Given the description of an element on the screen output the (x, y) to click on. 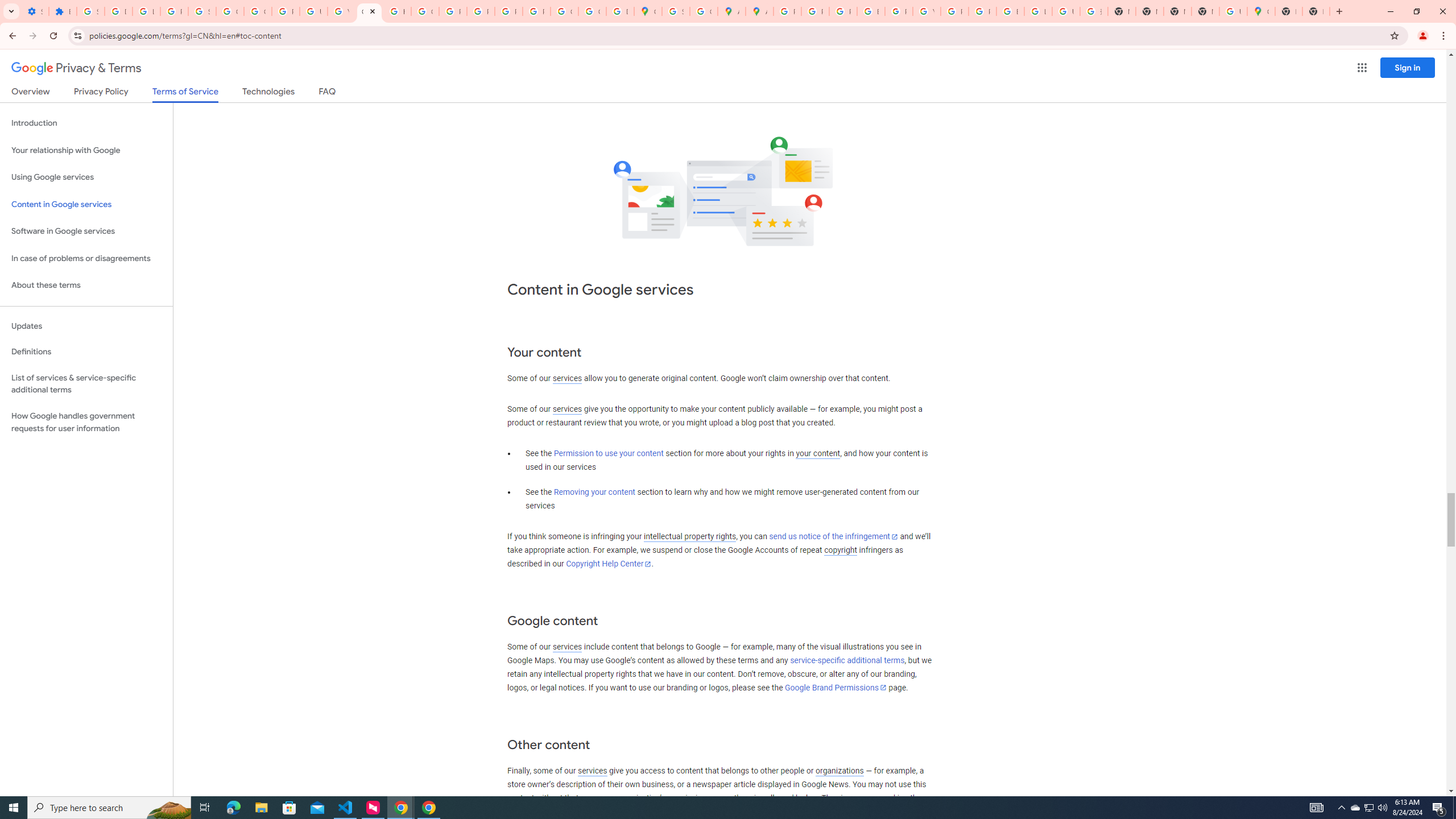
Privacy Help Center - Policies Help (842, 11)
About these terms (86, 284)
Sign in - Google Accounts (202, 11)
organizations (839, 770)
service-specific additional terms (847, 660)
intellectual property rights (689, 536)
